Given the description of an element on the screen output the (x, y) to click on. 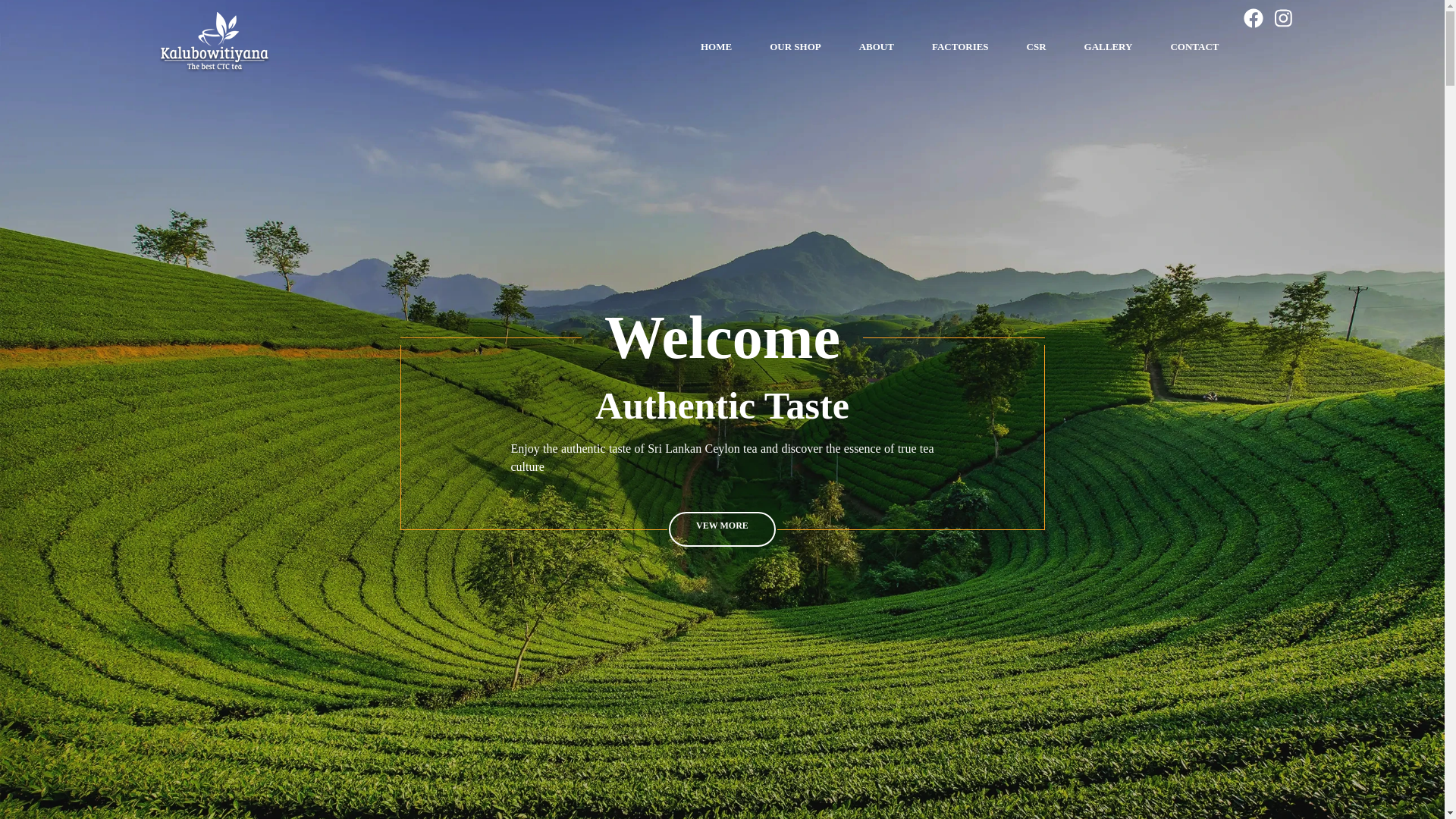
ABOUT (876, 46)
VEW MORE (721, 528)
CONTACT (1194, 46)
CSR (1036, 46)
HOME (716, 46)
FACTORIES (959, 46)
OUR SHOP (795, 46)
GALLERY (1108, 46)
